Given the description of an element on the screen output the (x, y) to click on. 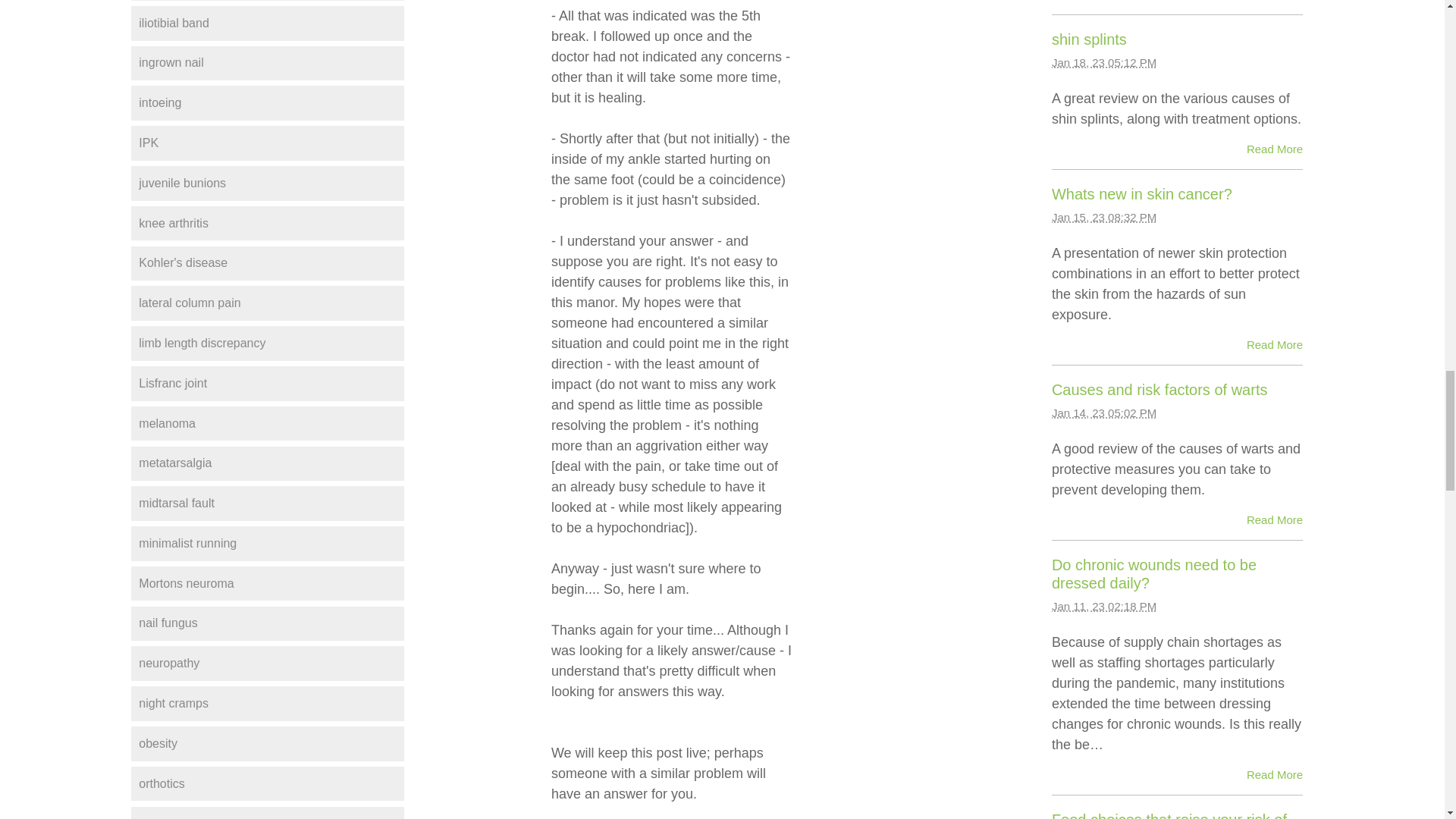
2023-01-14T17:02:21-0500 (1103, 412)
2023-01-11T14:18:29-0500 (1103, 605)
2023-01-15T20:32:37-0500 (1103, 216)
2023-01-18T17:12:39-0500 (1103, 62)
